Given the description of an element on the screen output the (x, y) to click on. 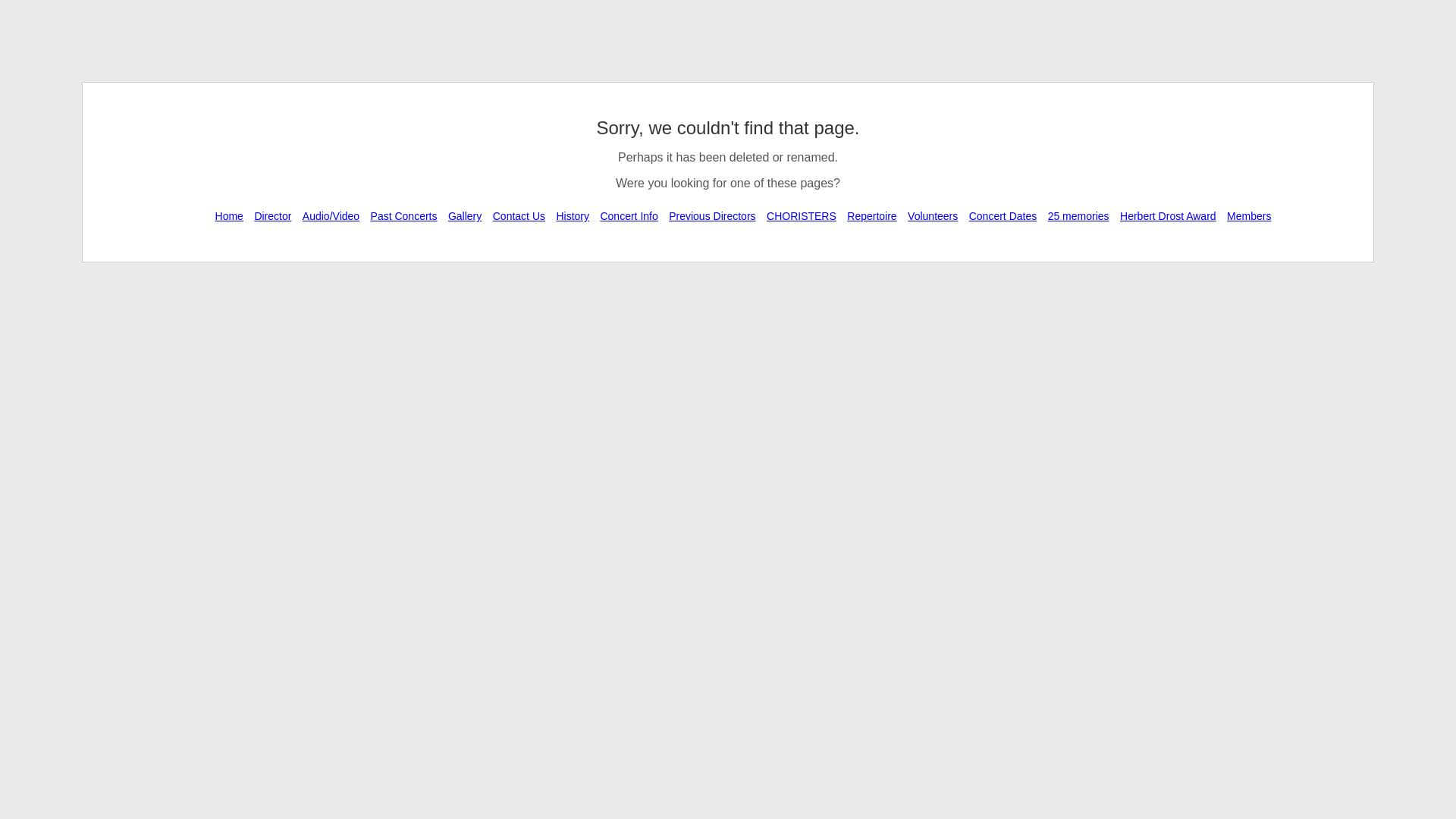
Repertoire Element type: text (871, 216)
Previous Directors Element type: text (712, 216)
Members Element type: text (1248, 216)
Herbert Drost Award Element type: text (1168, 216)
Concert Dates Element type: text (1002, 216)
CHORISTERS Element type: text (801, 216)
History Element type: text (572, 216)
Concert Info Element type: text (628, 216)
Volunteers Element type: text (932, 216)
Director Element type: text (272, 216)
Gallery Element type: text (464, 216)
Past Concerts Element type: text (404, 216)
25 memories Element type: text (1078, 216)
Audio/Video Element type: text (330, 216)
Contact Us Element type: text (519, 216)
Home Element type: text (229, 216)
